Given the description of an element on the screen output the (x, y) to click on. 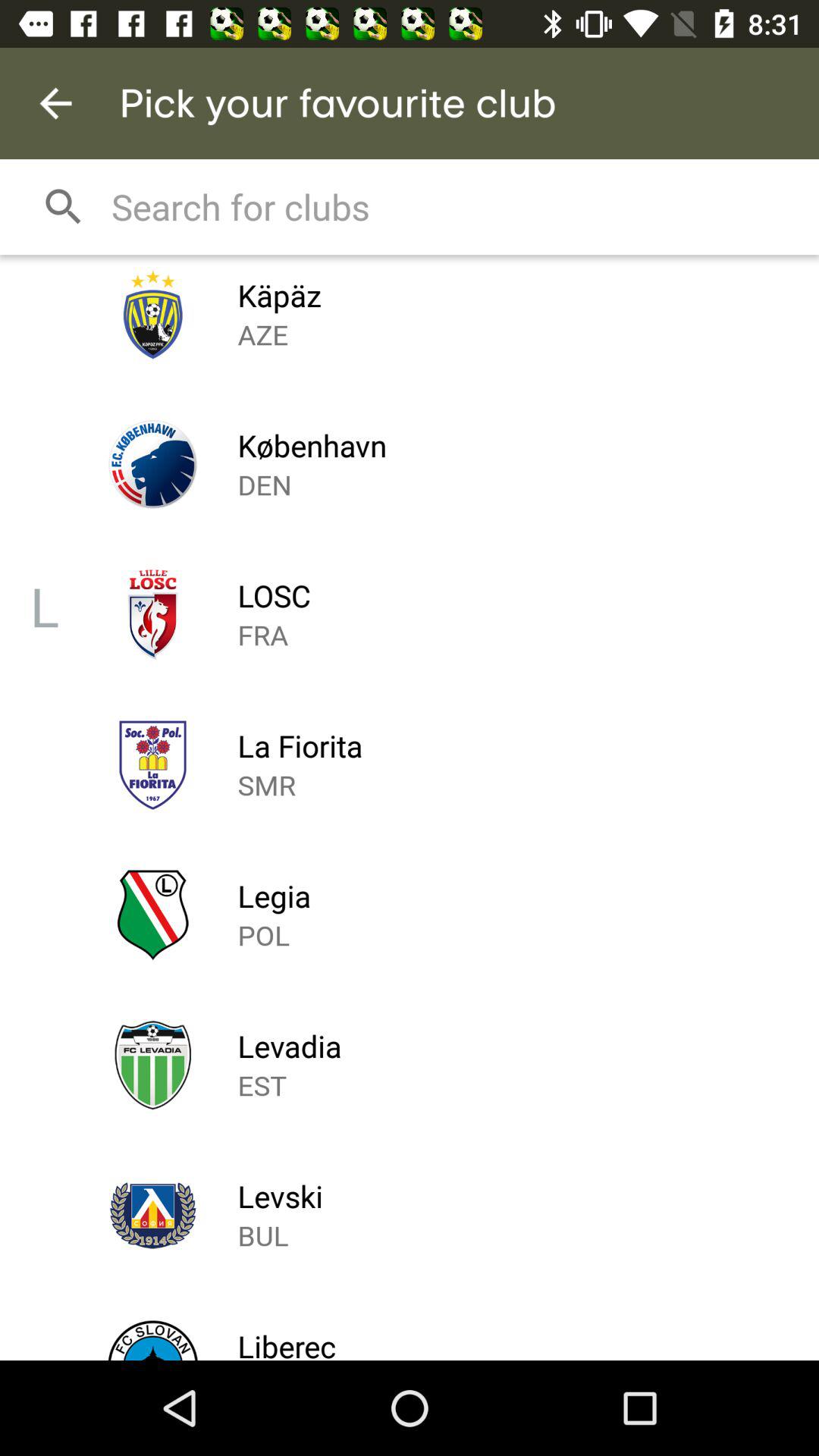
choose the item next to pick your favourite icon (55, 103)
